Given the description of an element on the screen output the (x, y) to click on. 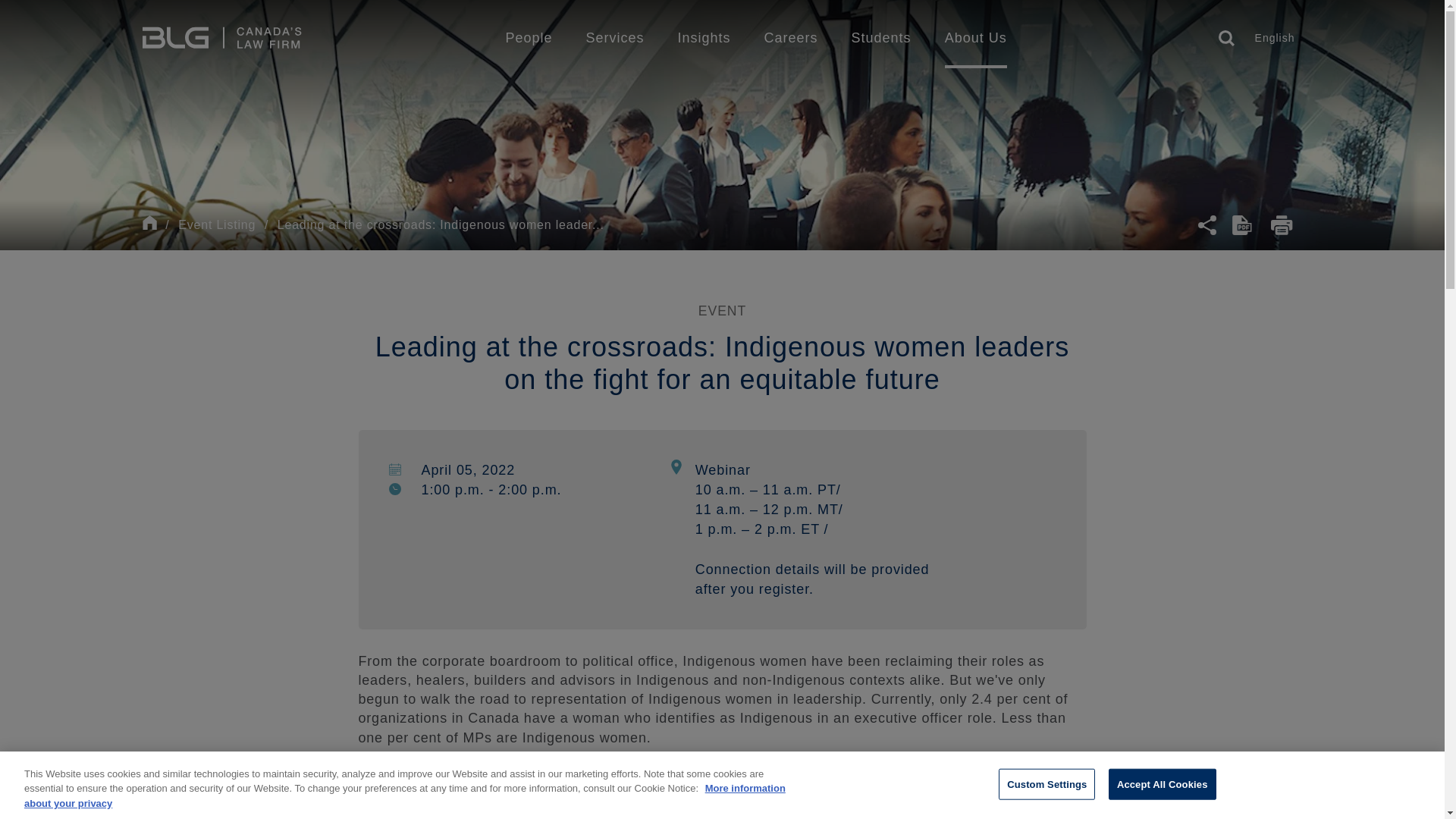
Home (221, 37)
Services (614, 37)
